Given the description of an element on the screen output the (x, y) to click on. 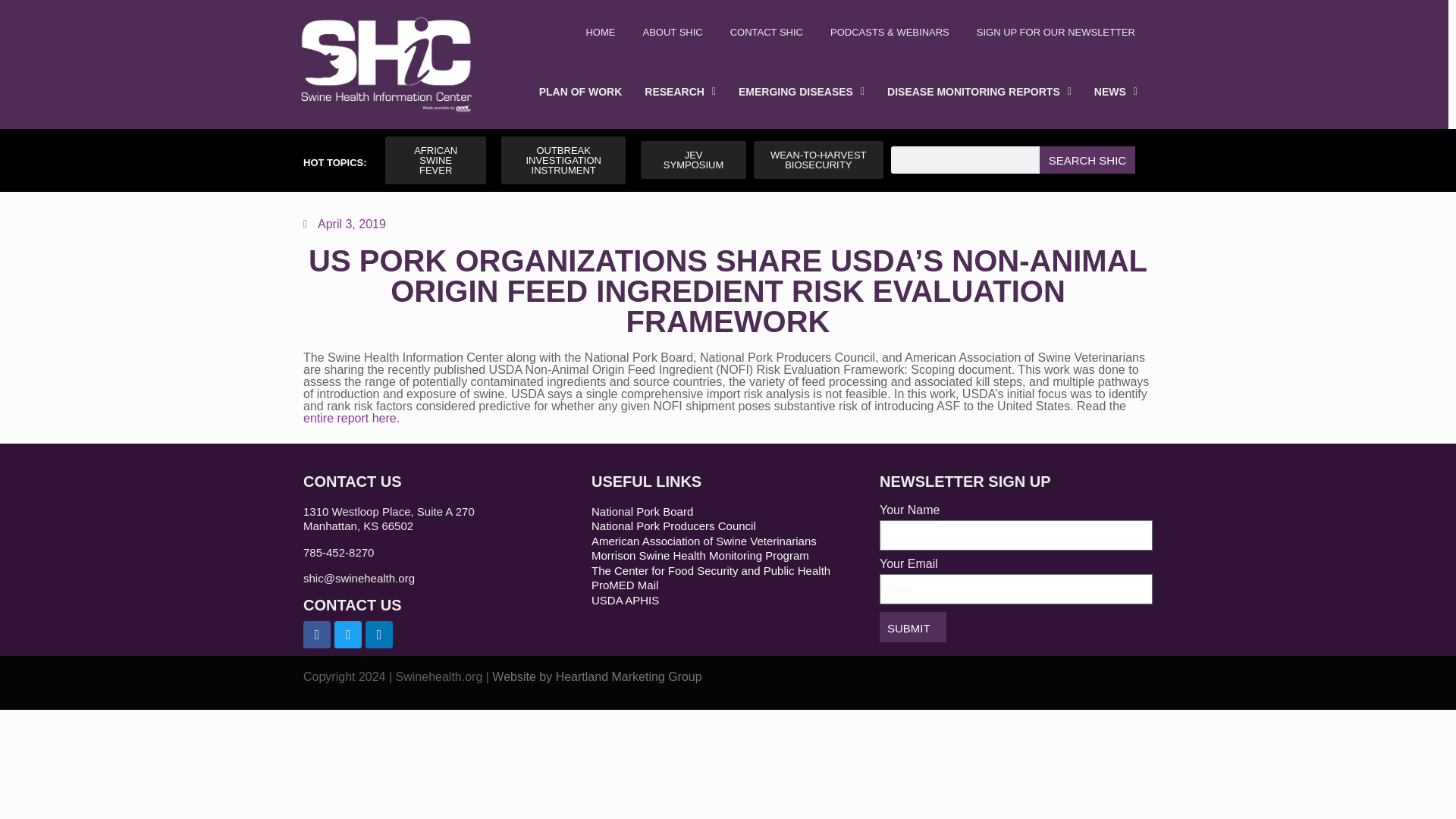
EMERGING DISEASES (801, 91)
HOME (600, 32)
PLAN OF WORK (580, 91)
SIGN UP FOR OUR NEWSLETTER (1055, 32)
DISEASE MONITORING REPORTS (979, 91)
CONTACT SHIC (766, 32)
RESEARCH (679, 91)
ABOUT SHIC (672, 32)
